Given the description of an element on the screen output the (x, y) to click on. 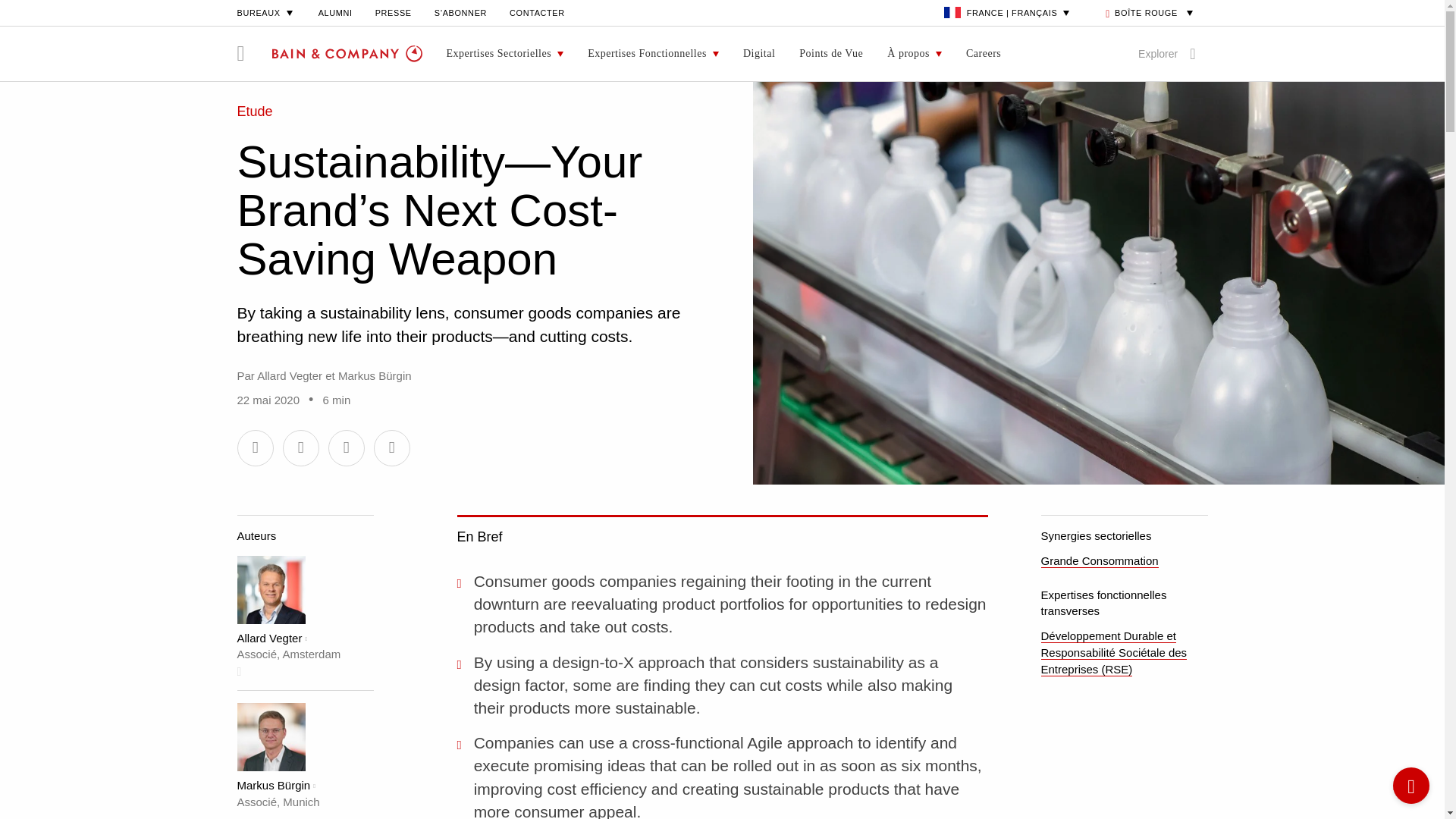
BUREAUX (265, 12)
